Given the description of an element on the screen output the (x, y) to click on. 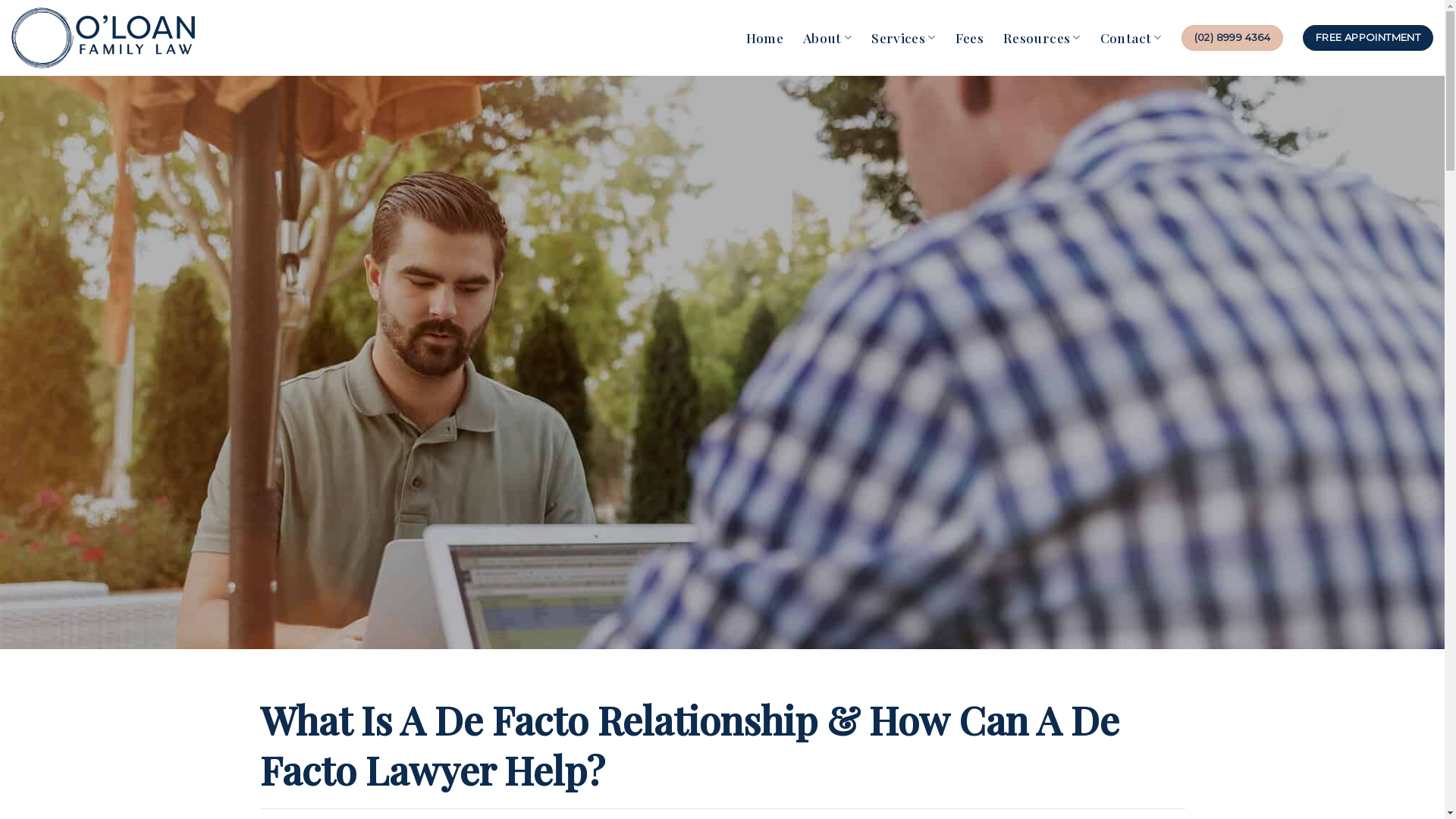
Resources Element type: text (1041, 37)
Contact Element type: text (1130, 37)
Services Element type: text (903, 37)
Fees Element type: text (969, 37)
(02) 8999 4364 Element type: text (1232, 37)
Home Element type: text (764, 37)
Skip to content Element type: text (0, 0)
O'Loan Family Law Element type: hover (110, 37)
FREE APPOINTMENT Element type: text (1367, 37)
About Element type: text (827, 37)
